Given the description of an element on the screen output the (x, y) to click on. 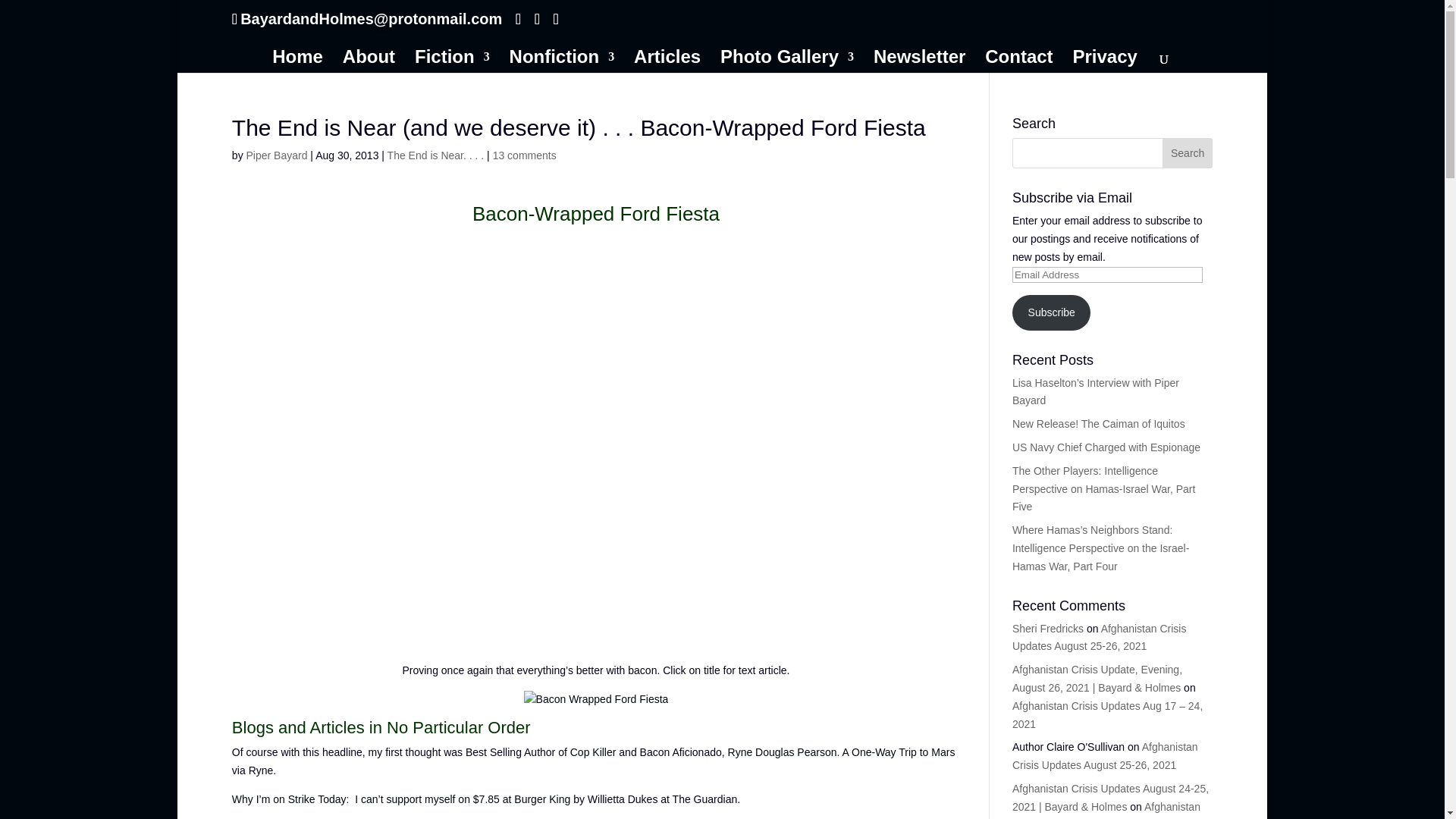
Posts by Piper Bayard (276, 155)
Fiction (451, 61)
Ryne Douglas Pearson (782, 752)
A One-Way Trip to Mars (899, 752)
Newsletter (919, 61)
Nonfiction (561, 61)
Bacon-Wrapped Ford Fiesta (595, 213)
Why I'm On Strike Today (400, 799)
Privacy (1104, 61)
Photo Gallery (786, 61)
About (368, 61)
Search (1186, 153)
Articles (666, 61)
Cop Killer (592, 752)
Home (297, 61)
